Given the description of an element on the screen output the (x, y) to click on. 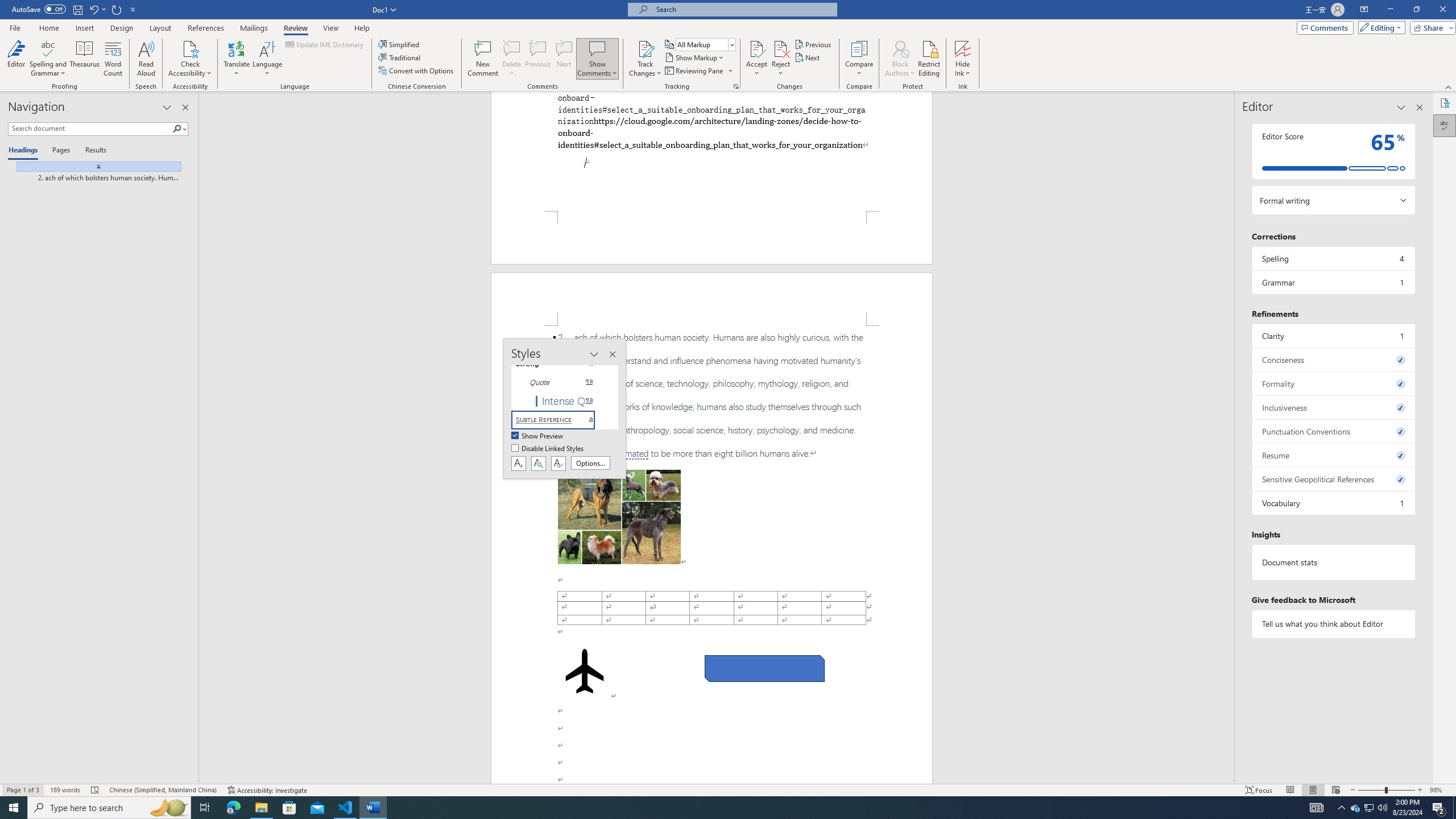
Show Comments (597, 48)
Jump to the beginning (94, 166)
Spelling, 4 issues. Press space or enter to review items. (1333, 258)
Subtle Reference (559, 419)
